Given the description of an element on the screen output the (x, y) to click on. 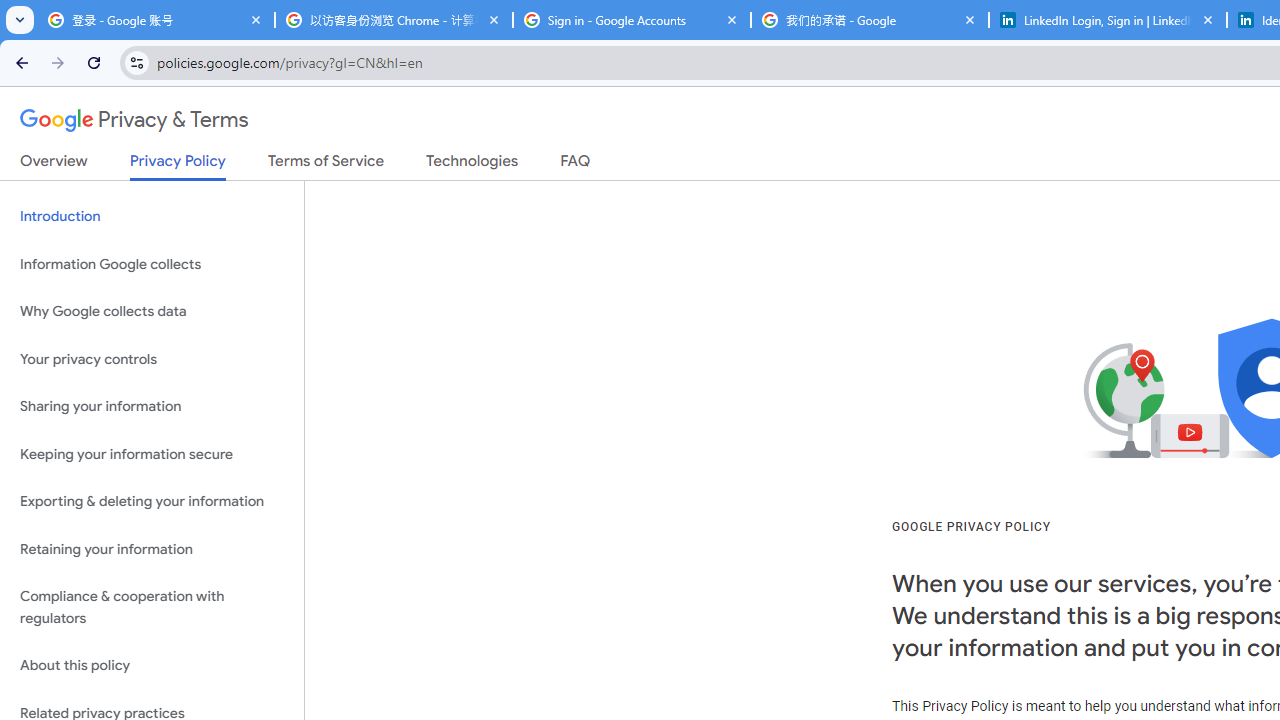
Sharing your information (152, 407)
Information Google collects (152, 263)
Keeping your information secure (152, 453)
Your privacy controls (152, 358)
